Given the description of an element on the screen output the (x, y) to click on. 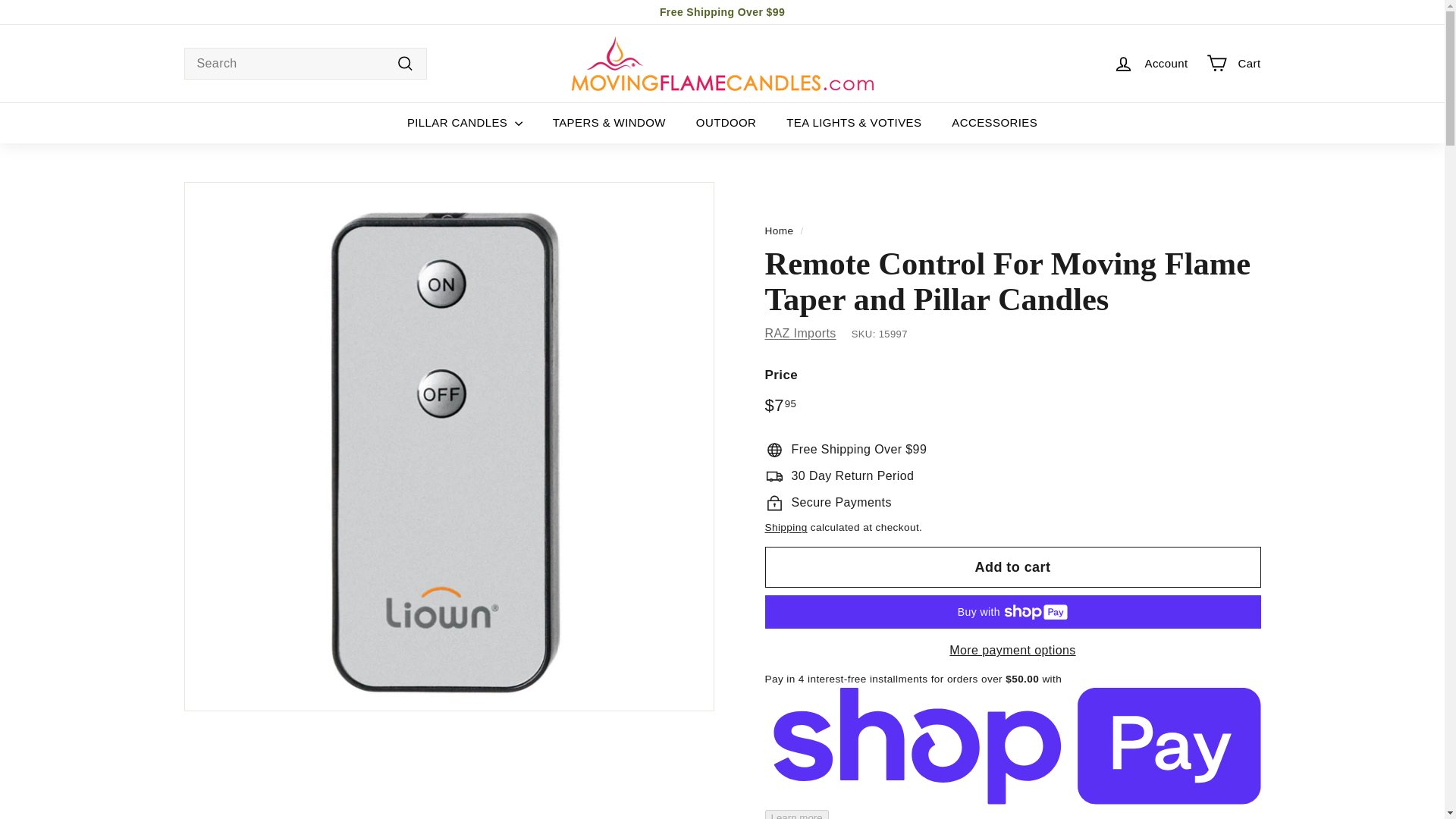
Cart (1232, 62)
RAZ Imports (799, 332)
Account (1149, 62)
Back to the frontpage (778, 230)
